Given the description of an element on the screen output the (x, y) to click on. 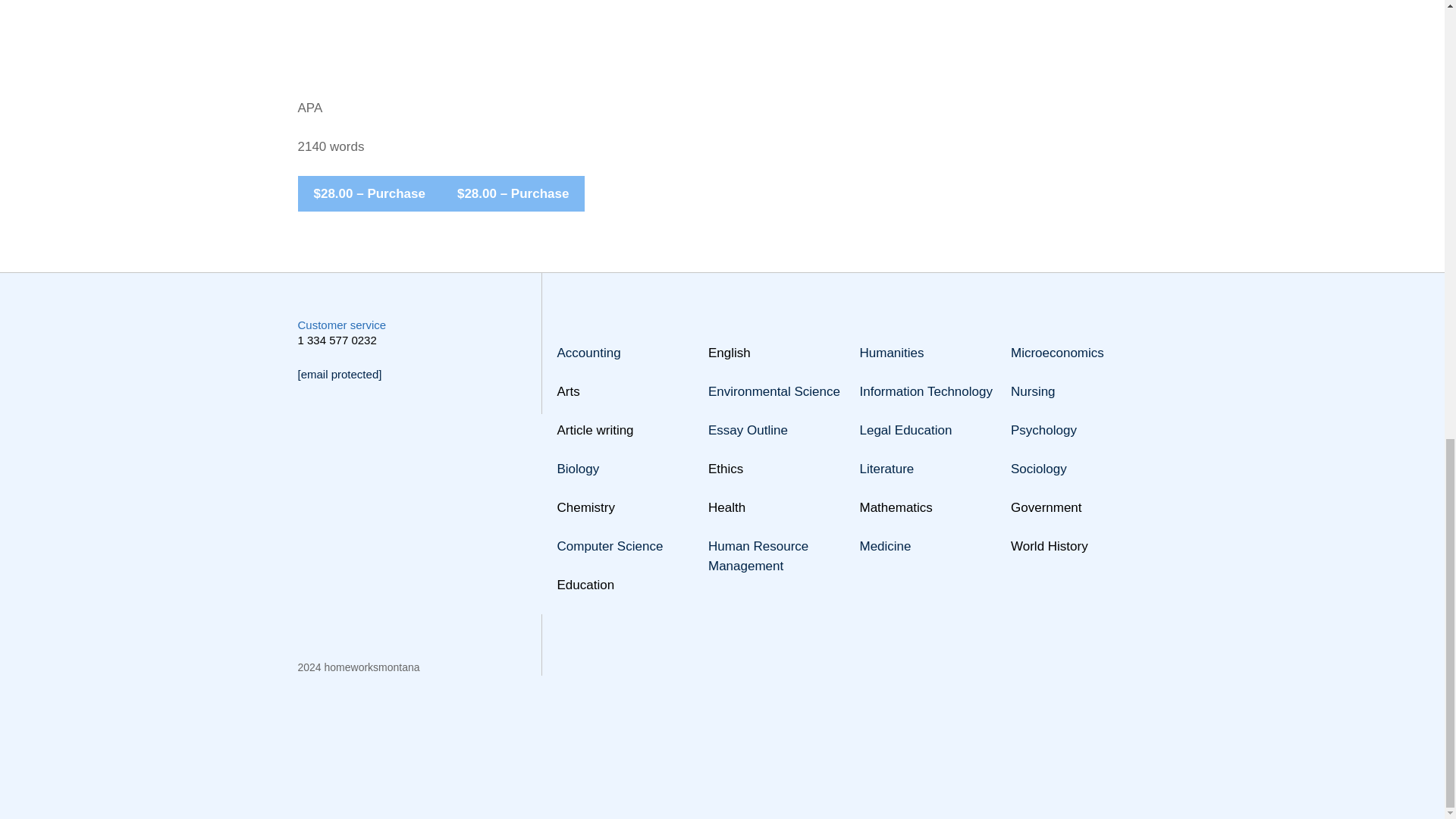
Microeconomics (1056, 352)
Nursing (1032, 391)
Environmental Science (773, 391)
Medicine (885, 545)
Legal Education (906, 430)
Accounting (588, 352)
Human Resource Management (757, 555)
Humanities (892, 352)
Information Technology (926, 391)
Biology (577, 468)
Essay Outline (747, 430)
Computer Science (609, 545)
Literature (887, 468)
